Given the description of an element on the screen output the (x, y) to click on. 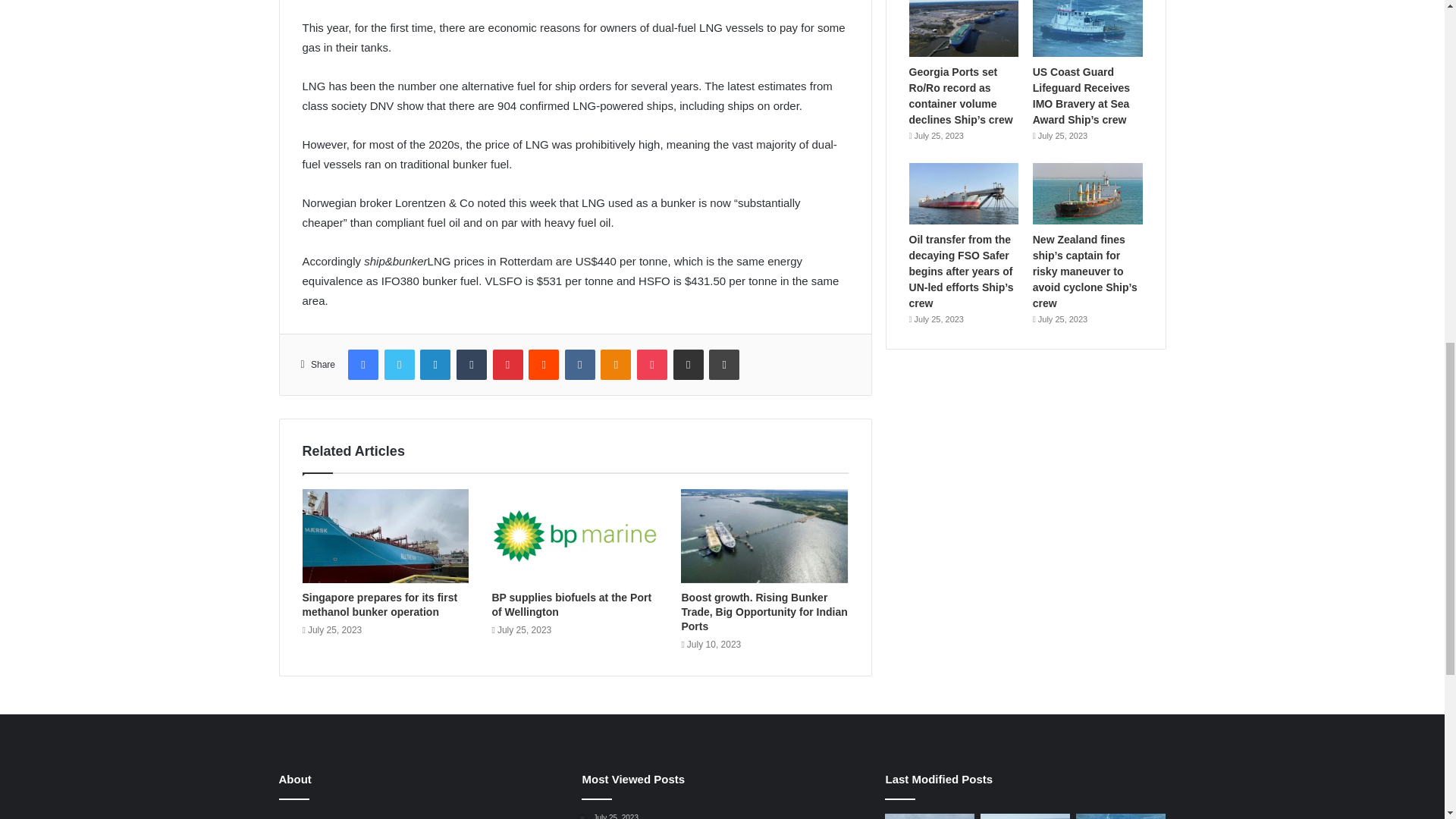
Tumblr (471, 364)
Odnoklassniki (614, 364)
Pinterest (507, 364)
Print (724, 364)
Pocket (651, 364)
Facebook (362, 364)
Share via Email (687, 364)
Reddit (543, 364)
VKontakte (579, 364)
Twitter (399, 364)
Singapore prepares for its first methanol bunker operation (379, 604)
LinkedIn (434, 364)
